Given the description of an element on the screen output the (x, y) to click on. 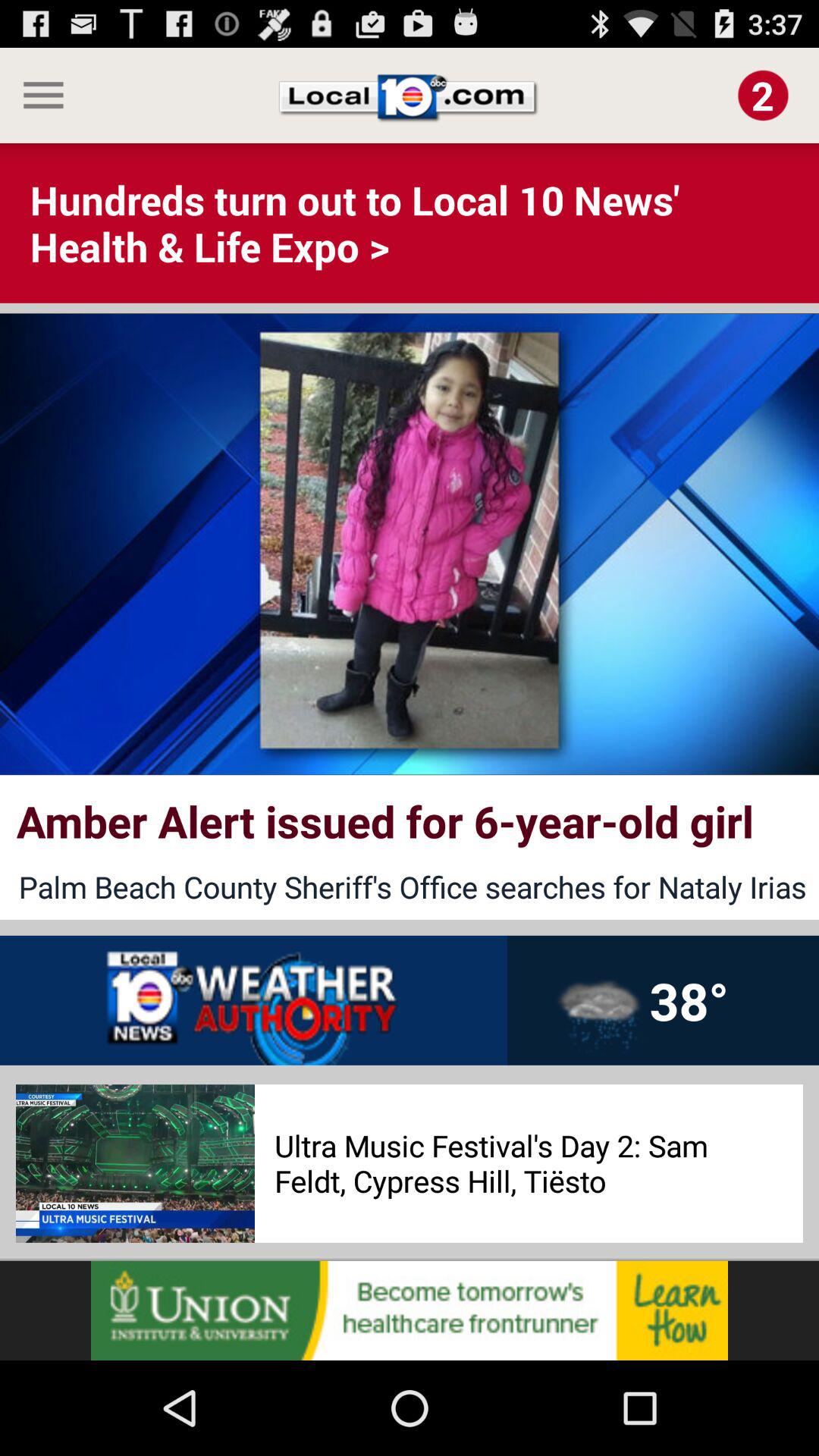
open (409, 1310)
